Given the description of an element on the screen output the (x, y) to click on. 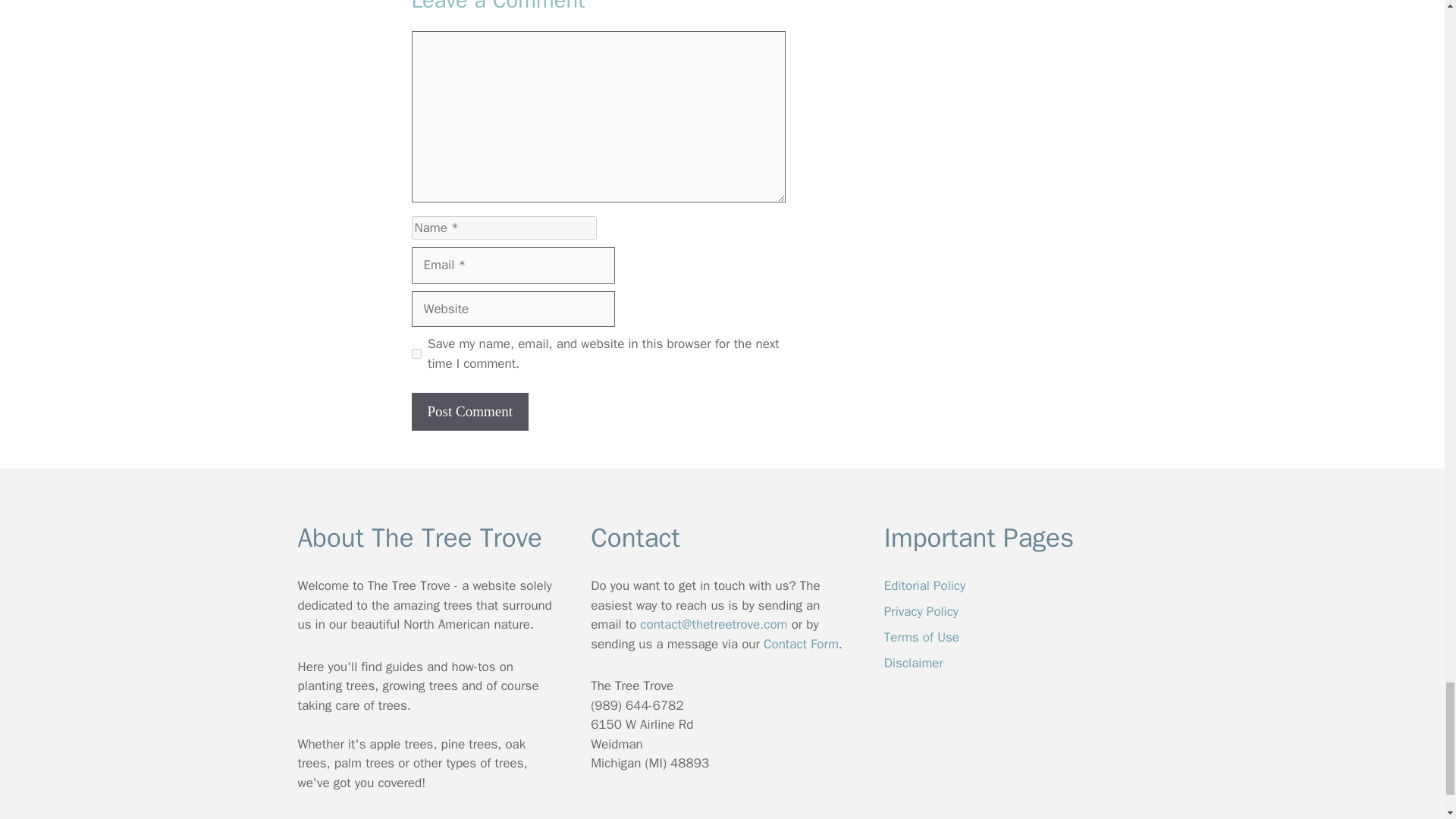
yes (415, 353)
Post Comment (468, 412)
